Given the description of an element on the screen output the (x, y) to click on. 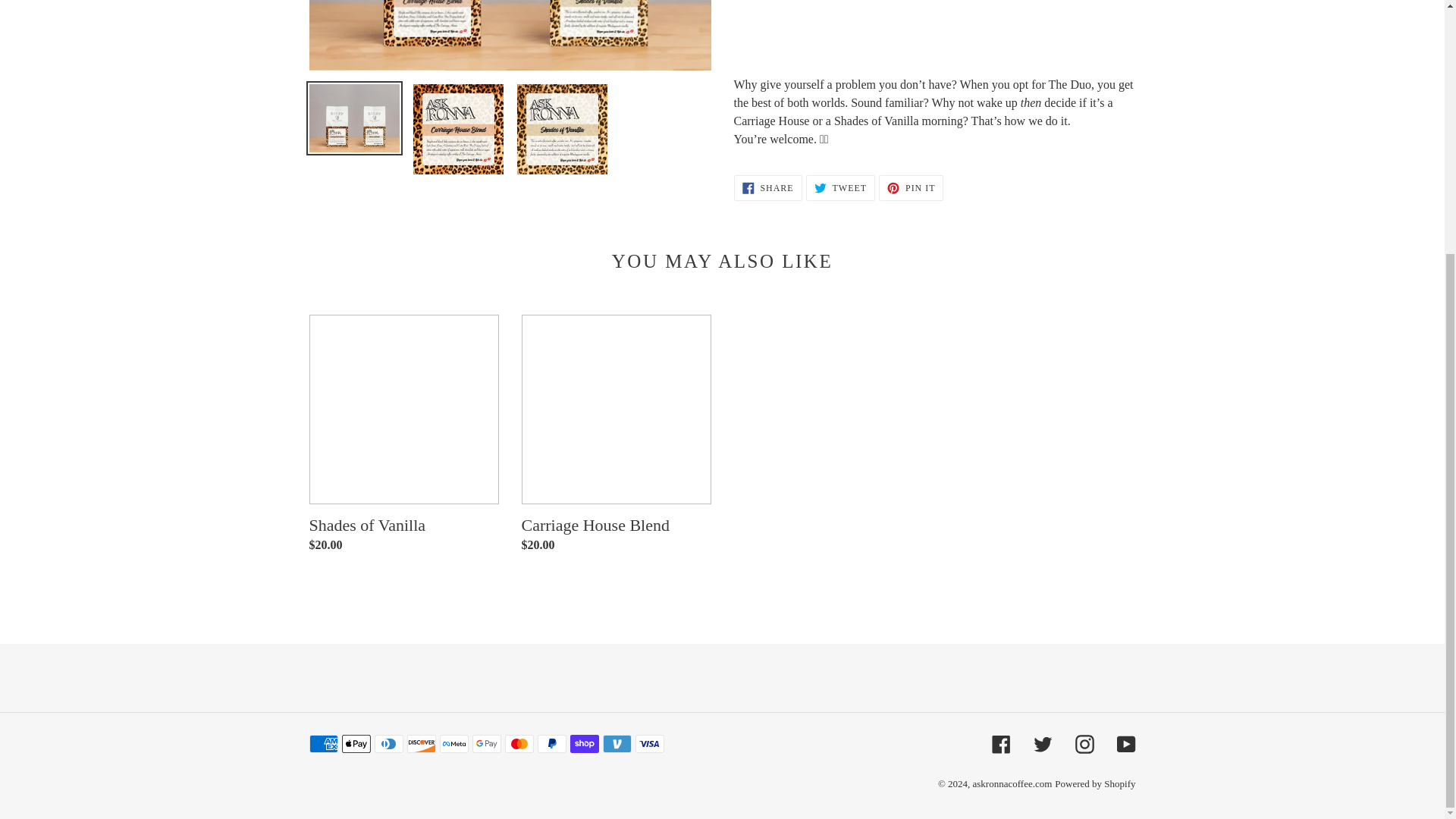
Twitter (1041, 743)
Facebook (1000, 743)
YouTube (1125, 743)
askronnacoffee.com (767, 187)
Instagram (840, 187)
Powered by Shopify (1012, 783)
